Given the description of an element on the screen output the (x, y) to click on. 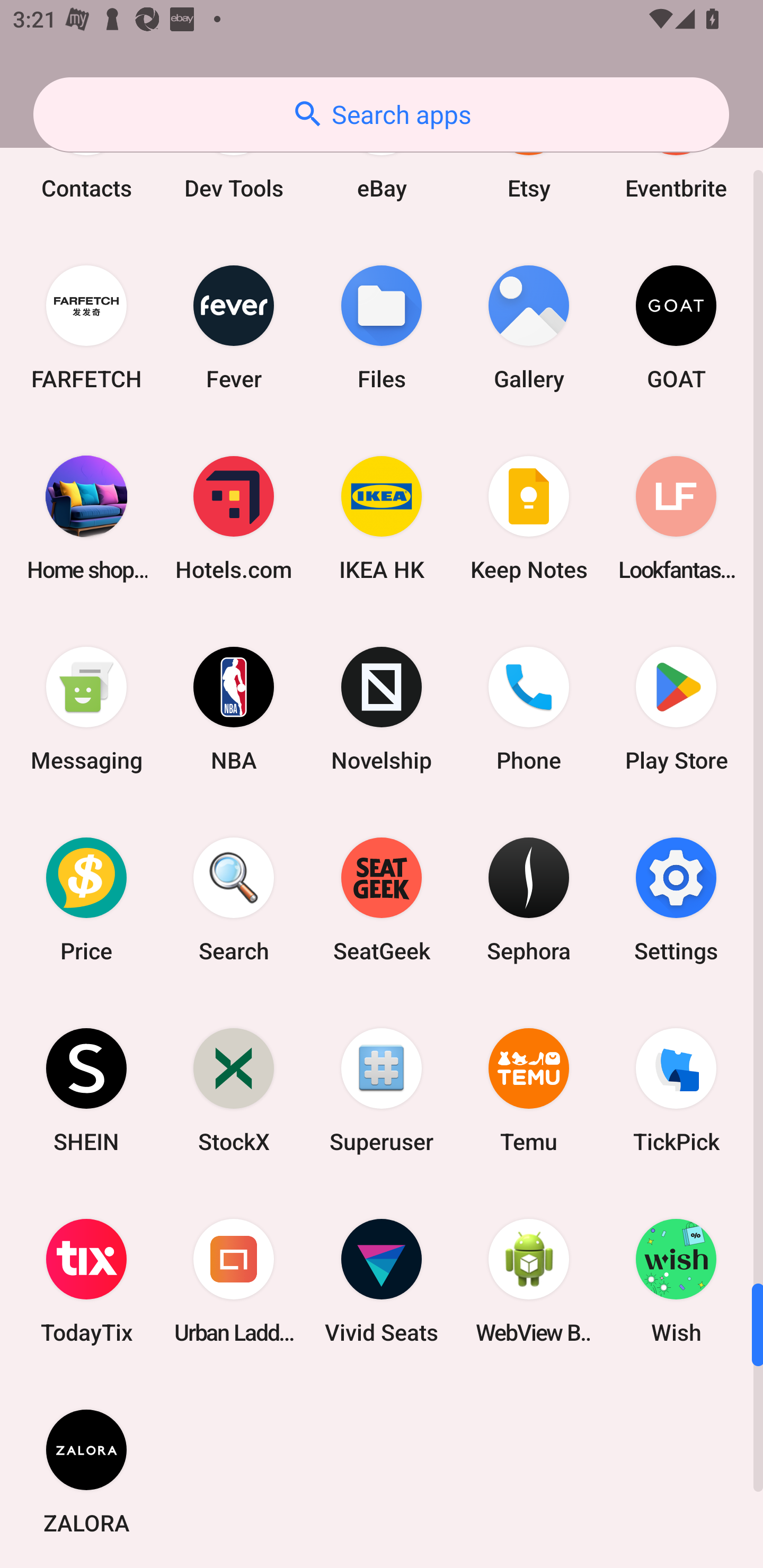
  Search apps (381, 114)
FARFETCH (86, 327)
Fever (233, 327)
Files (381, 327)
Gallery (528, 327)
GOAT (676, 327)
Home shopping (86, 518)
Hotels.com (233, 518)
IKEA HK (381, 518)
Keep Notes (528, 518)
Lookfantastic (676, 518)
Messaging (86, 708)
NBA (233, 708)
Novelship (381, 708)
Phone (528, 708)
Play Store (676, 708)
Price (86, 899)
Search (233, 899)
SeatGeek (381, 899)
Sephora (528, 899)
Settings (676, 899)
SHEIN (86, 1089)
StockX (233, 1089)
Superuser (381, 1089)
Temu (528, 1089)
TickPick (676, 1089)
TodayTix (86, 1280)
Urban Ladder (233, 1280)
Vivid Seats (381, 1280)
WebView Browser Tester (528, 1280)
Wish (676, 1280)
ZALORA (86, 1471)
